Given the description of an element on the screen output the (x, y) to click on. 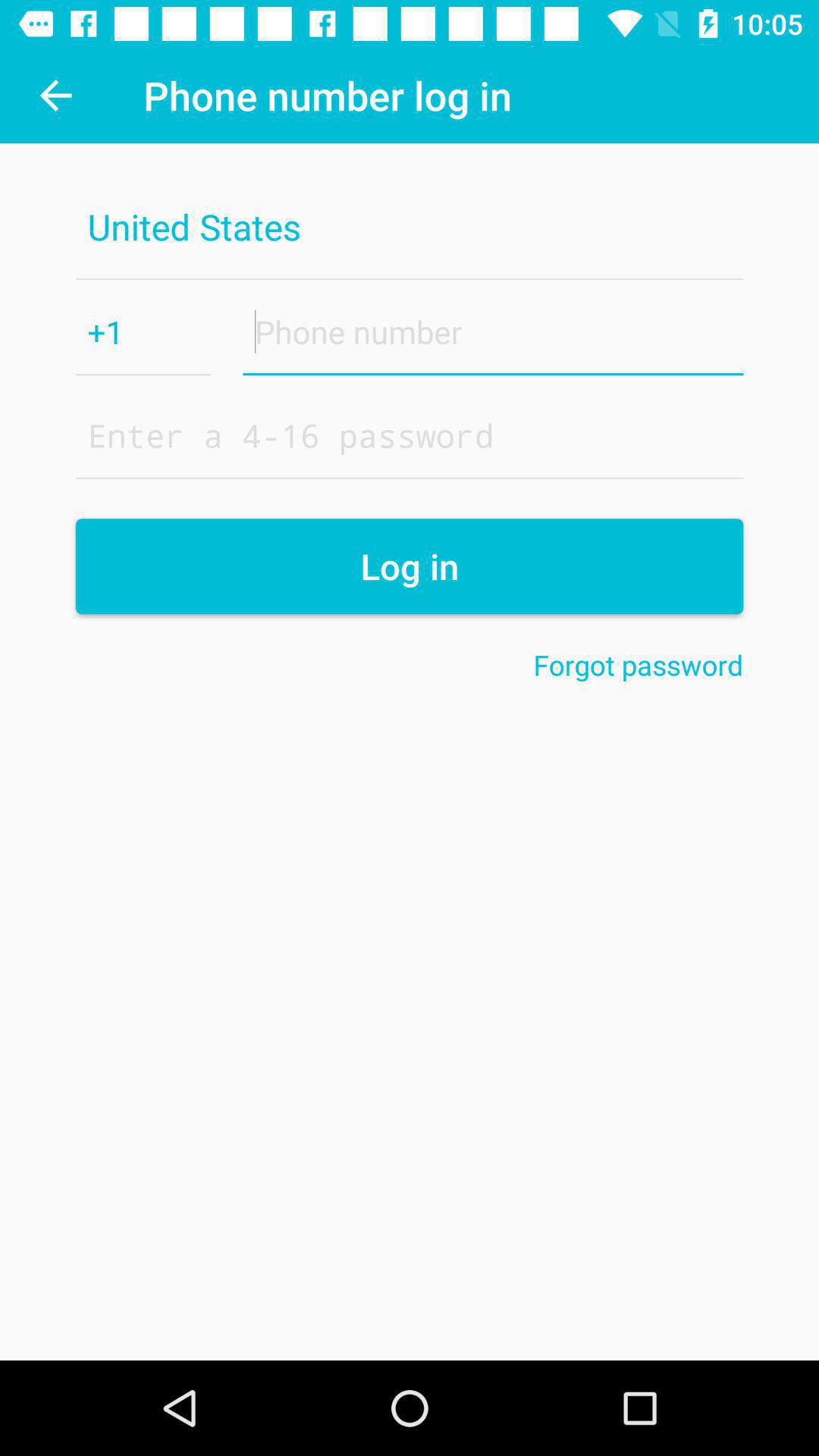
turn off the +1 (142, 331)
